Given the description of an element on the screen output the (x, y) to click on. 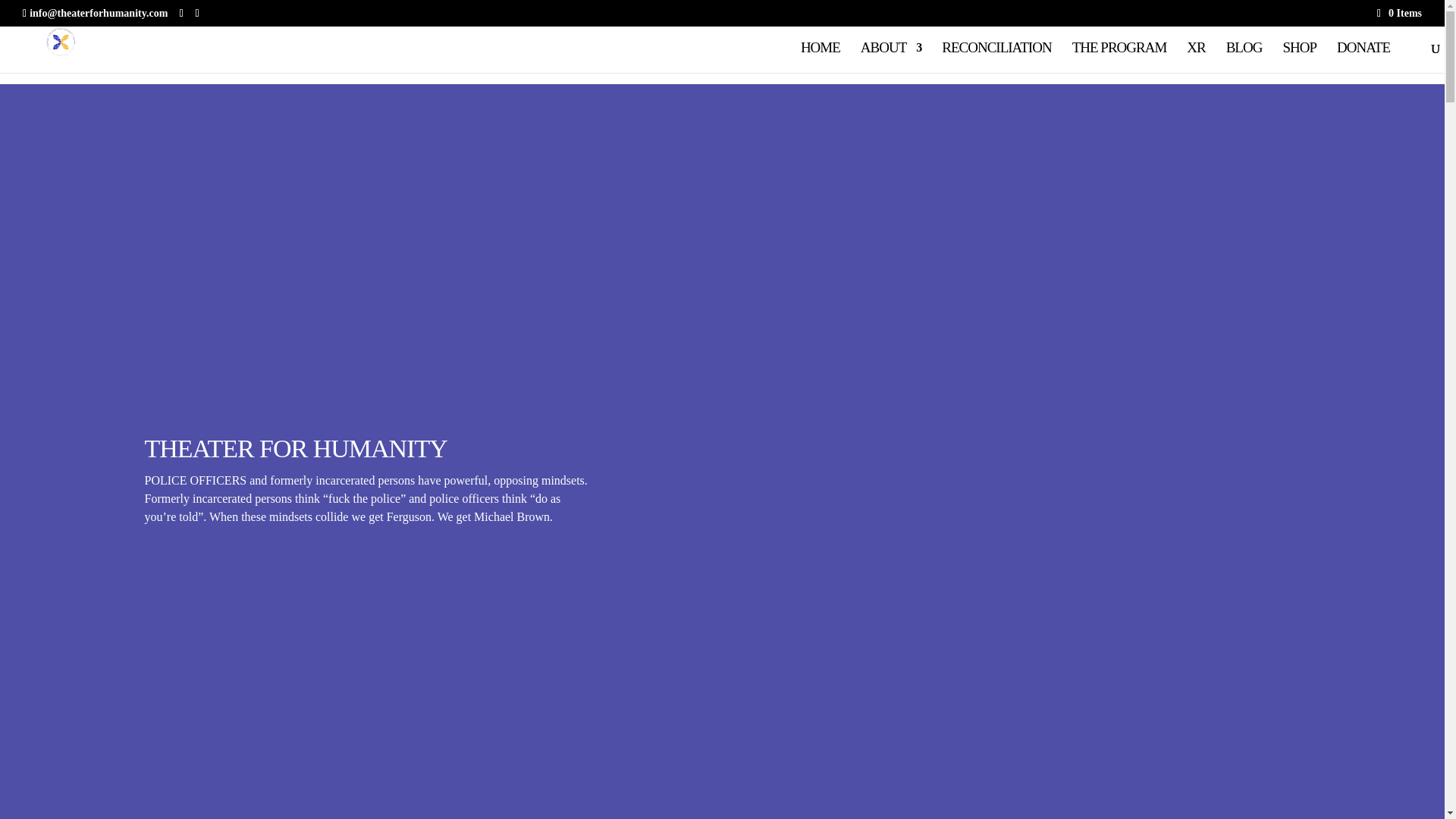
RECONCILIATION (996, 57)
HOME (820, 57)
THE PROGRAM (1119, 57)
BLOG (1243, 57)
SHOP (1299, 57)
DONATE (1363, 57)
ABOUT (890, 57)
0 Items (1399, 12)
